Given the description of an element on the screen output the (x, y) to click on. 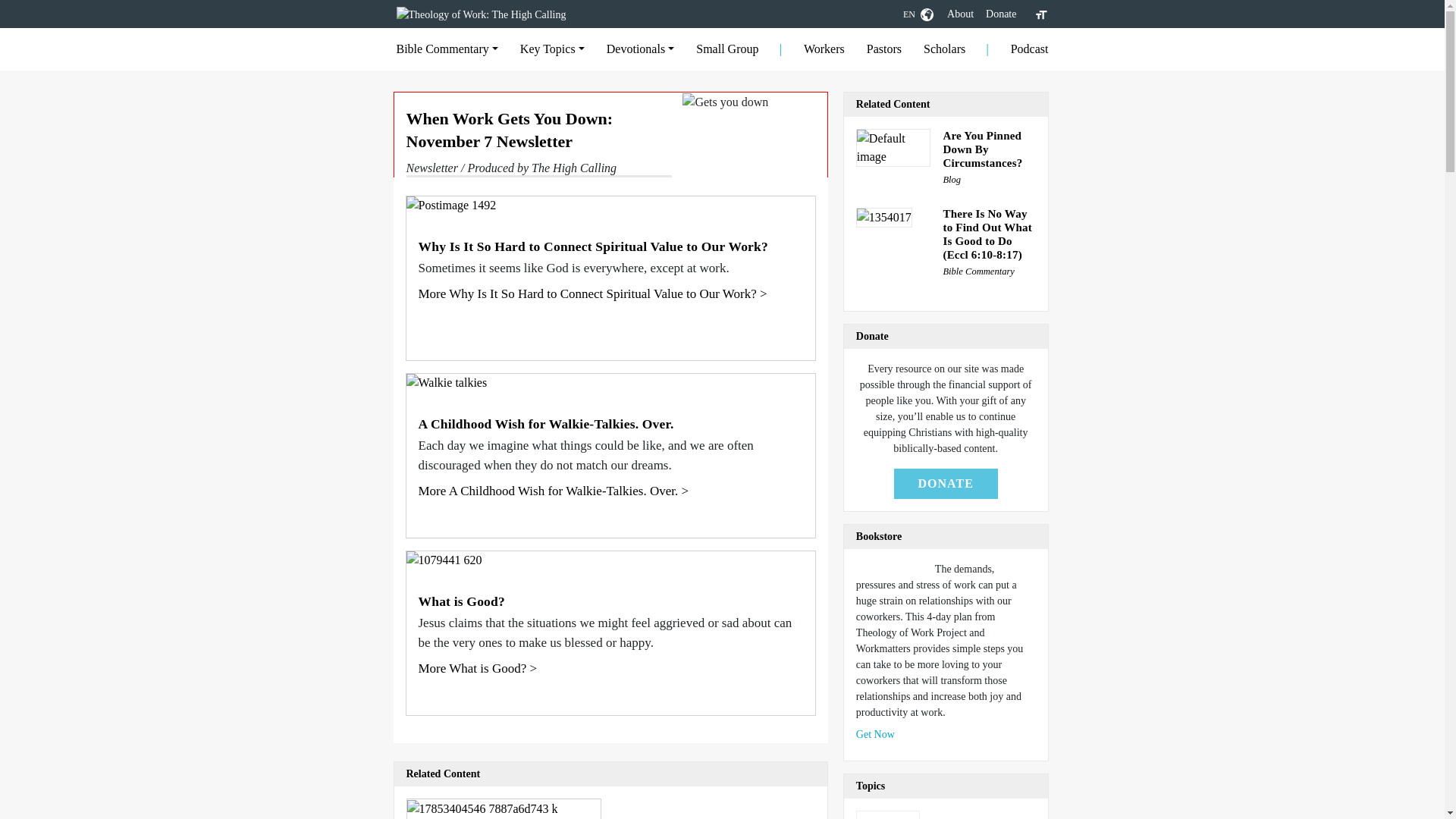
About (959, 13)
Donate (1000, 13)
Bible Commentary (446, 49)
About (959, 13)
Donate (1000, 13)
EN (917, 13)
